Given the description of an element on the screen output the (x, y) to click on. 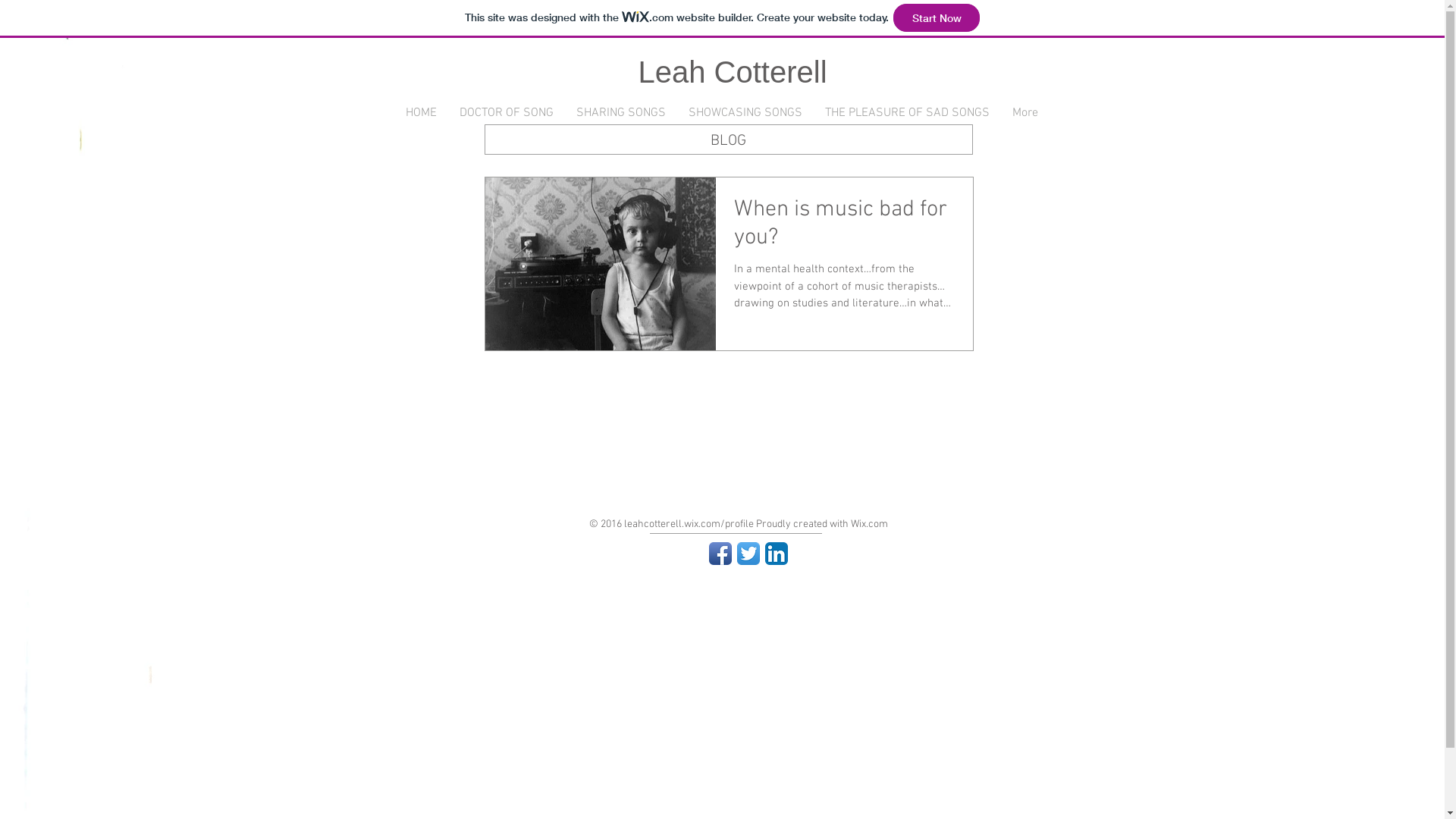
THE PLEASURE OF SAD SONGS Element type: text (906, 113)
When is music bad for you? Element type: text (844, 227)
HOME Element type: text (421, 113)
Leah Cotterell Element type: text (731, 71)
SHARING SONGS Element type: text (620, 113)
DOCTOR OF SONG Element type: text (505, 113)
Wix.com Element type: text (869, 523)
SHOWCASING SONGS Element type: text (744, 113)
